Given the description of an element on the screen output the (x, y) to click on. 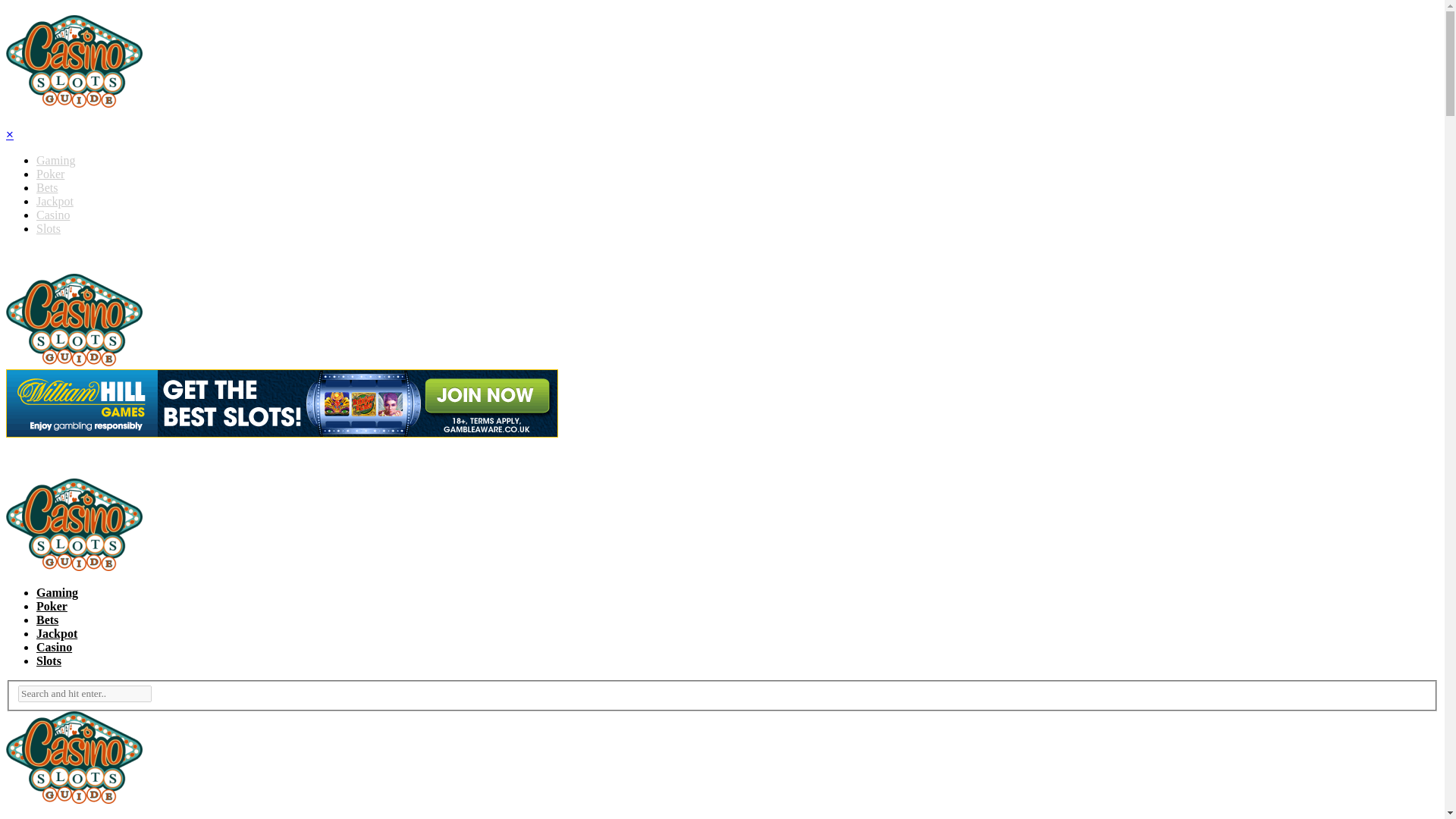
Poker (51, 605)
Jackpot (55, 201)
Jackpot (56, 633)
Bets (47, 187)
Slots (48, 228)
Casino (52, 214)
Gaming (57, 592)
Gaming (55, 160)
Slots (48, 660)
Bets (47, 619)
